Given the description of an element on the screen output the (x, y) to click on. 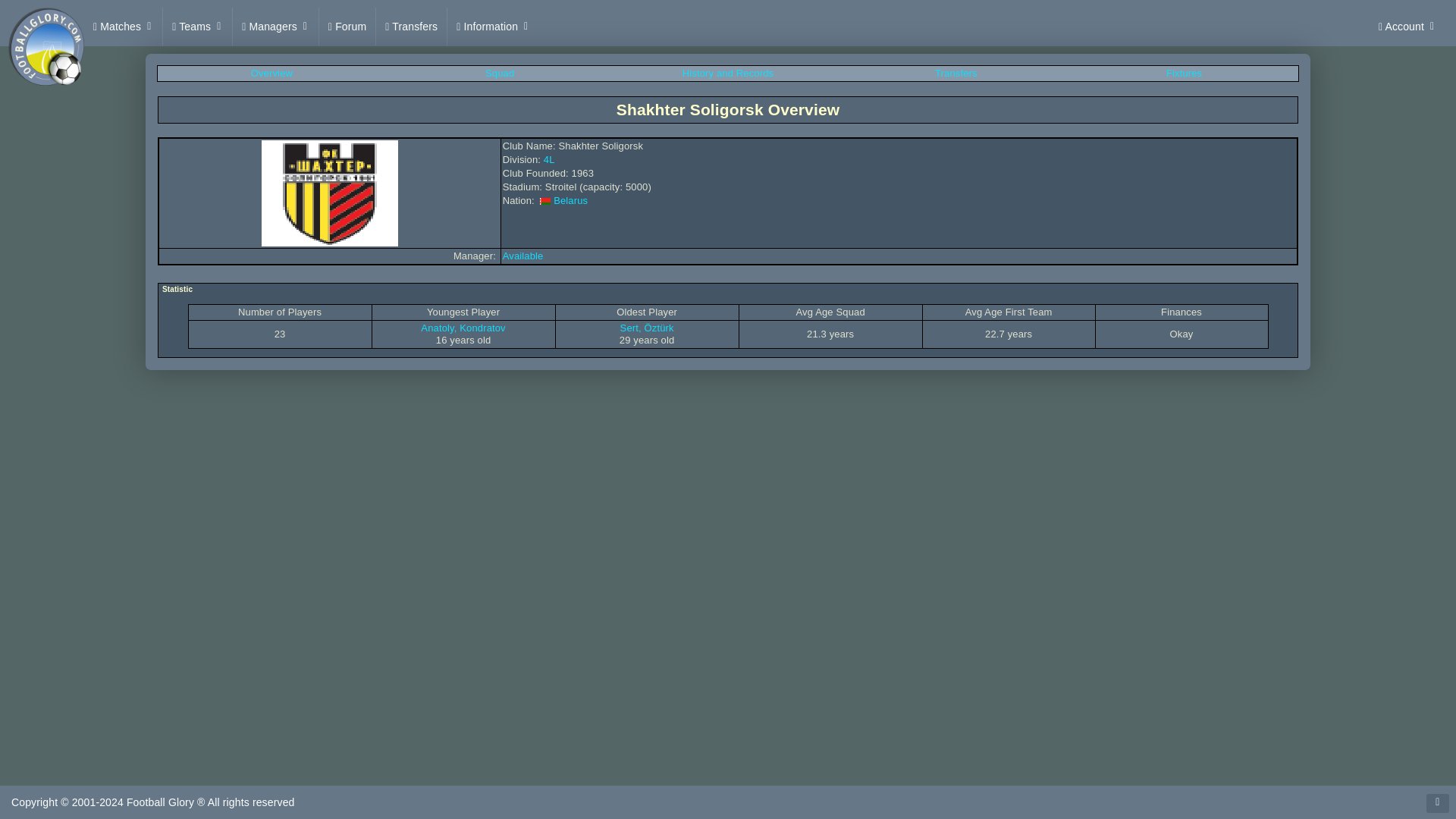
 Teams (197, 26)
 Matches (122, 26)
Football Glory Home (46, 26)
Football Glory Logo (46, 46)
 Managers (275, 26)
 Account (1407, 26)
 Forum (346, 26)
 Transfers (410, 26)
 Information (492, 26)
